Given the description of an element on the screen output the (x, y) to click on. 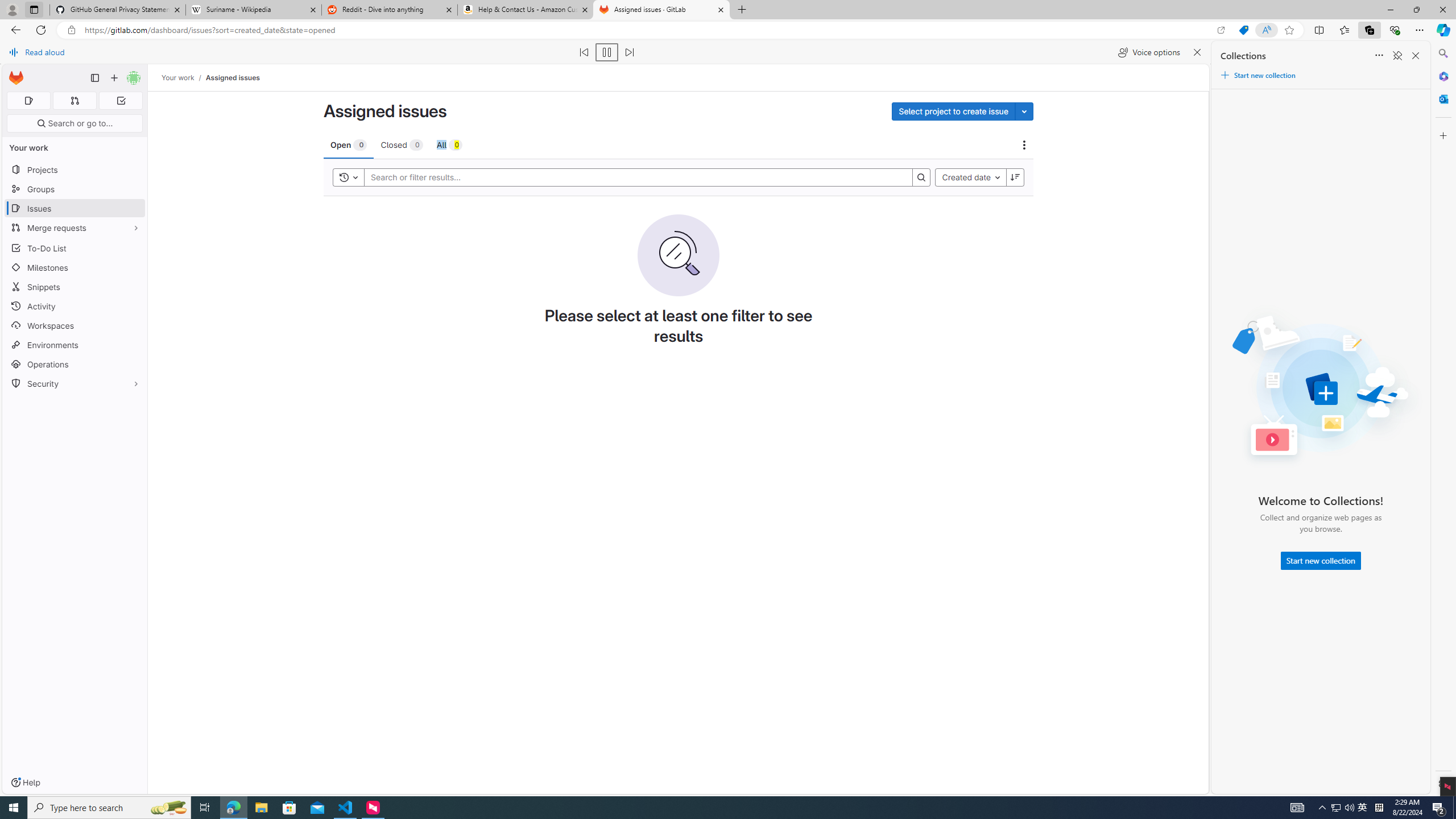
Created date (970, 176)
GitHub General Privacy Statement - GitHub Docs (117, 9)
Closed 0 (401, 144)
Read previous paragraph (583, 52)
Read next paragraph (628, 52)
